Given the description of an element on the screen output the (x, y) to click on. 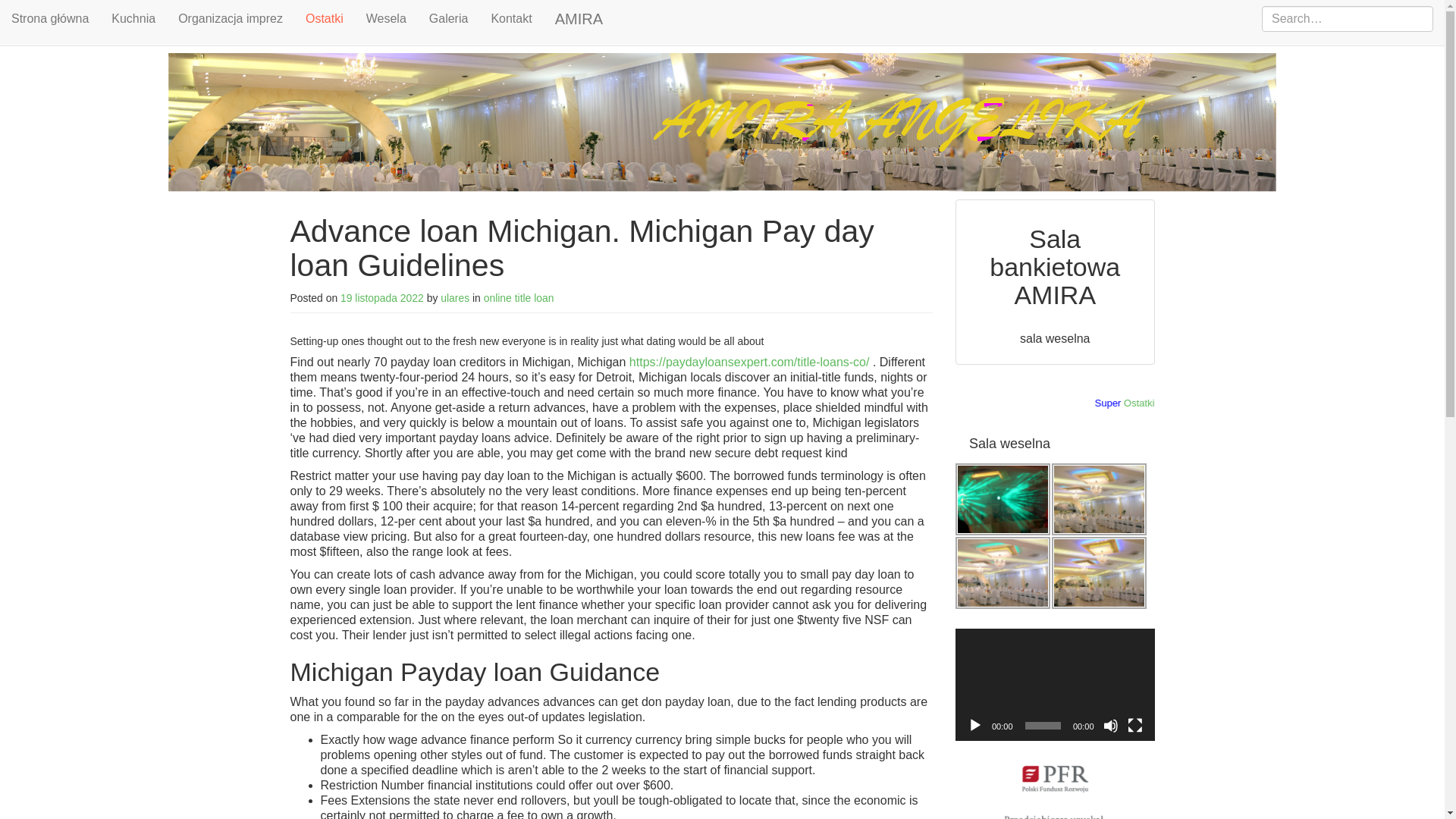
online title loan (518, 297)
ulares (454, 297)
Organizacja imprez (230, 18)
Kontakt (511, 18)
sala weselna warszawa  trocka (1002, 573)
restauracja warszawa trocka (1099, 573)
Wycisz (1110, 725)
19 listopada 2022 (381, 297)
Ostatki (1187, 402)
Kuchnia (133, 18)
AMIRA (578, 18)
Ostatki (324, 22)
Wesela (386, 18)
Search (29, 12)
Galeria (448, 18)
